Given the description of an element on the screen output the (x, y) to click on. 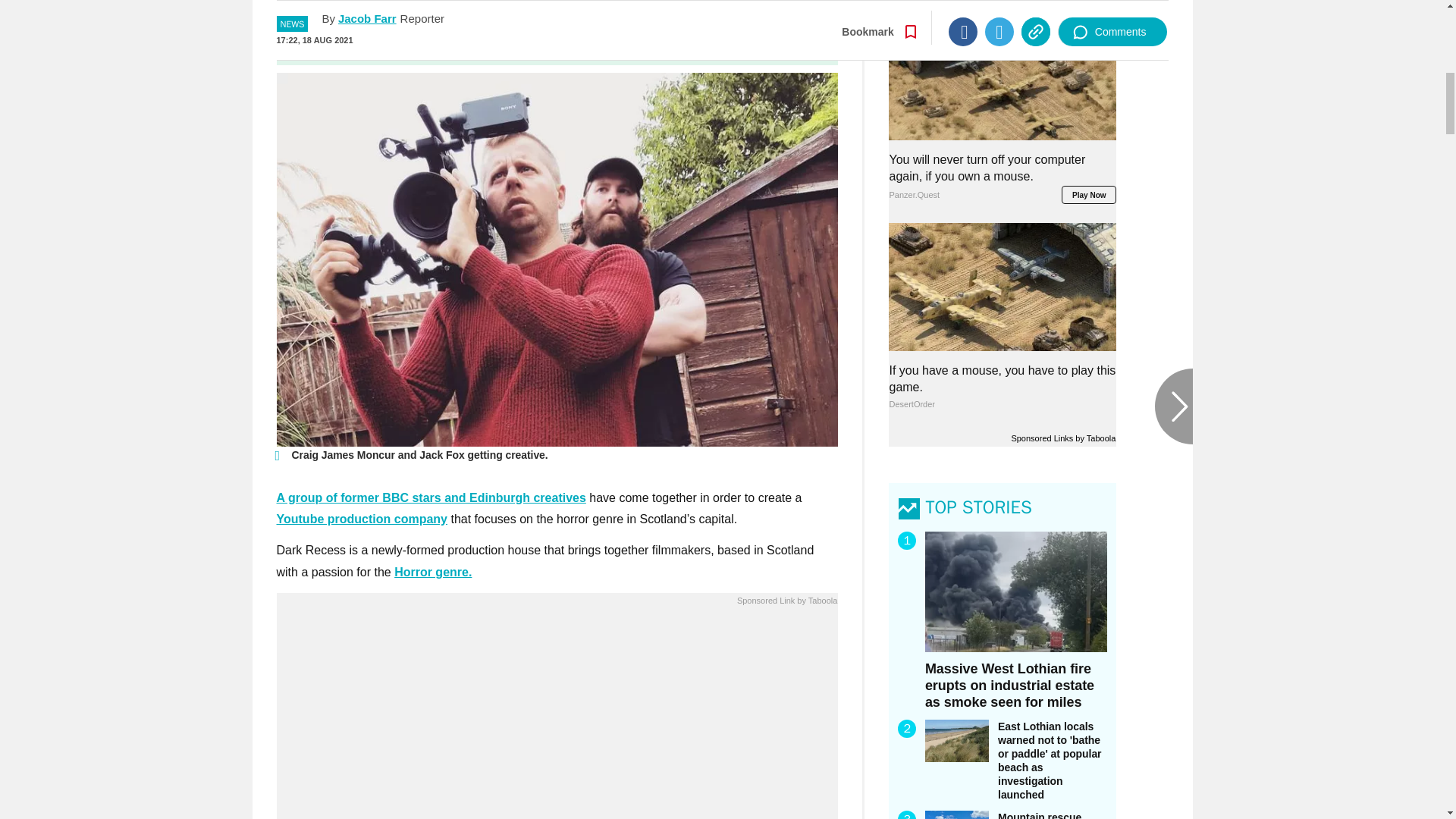
Go (730, 38)
